Given the description of an element on the screen output the (x, y) to click on. 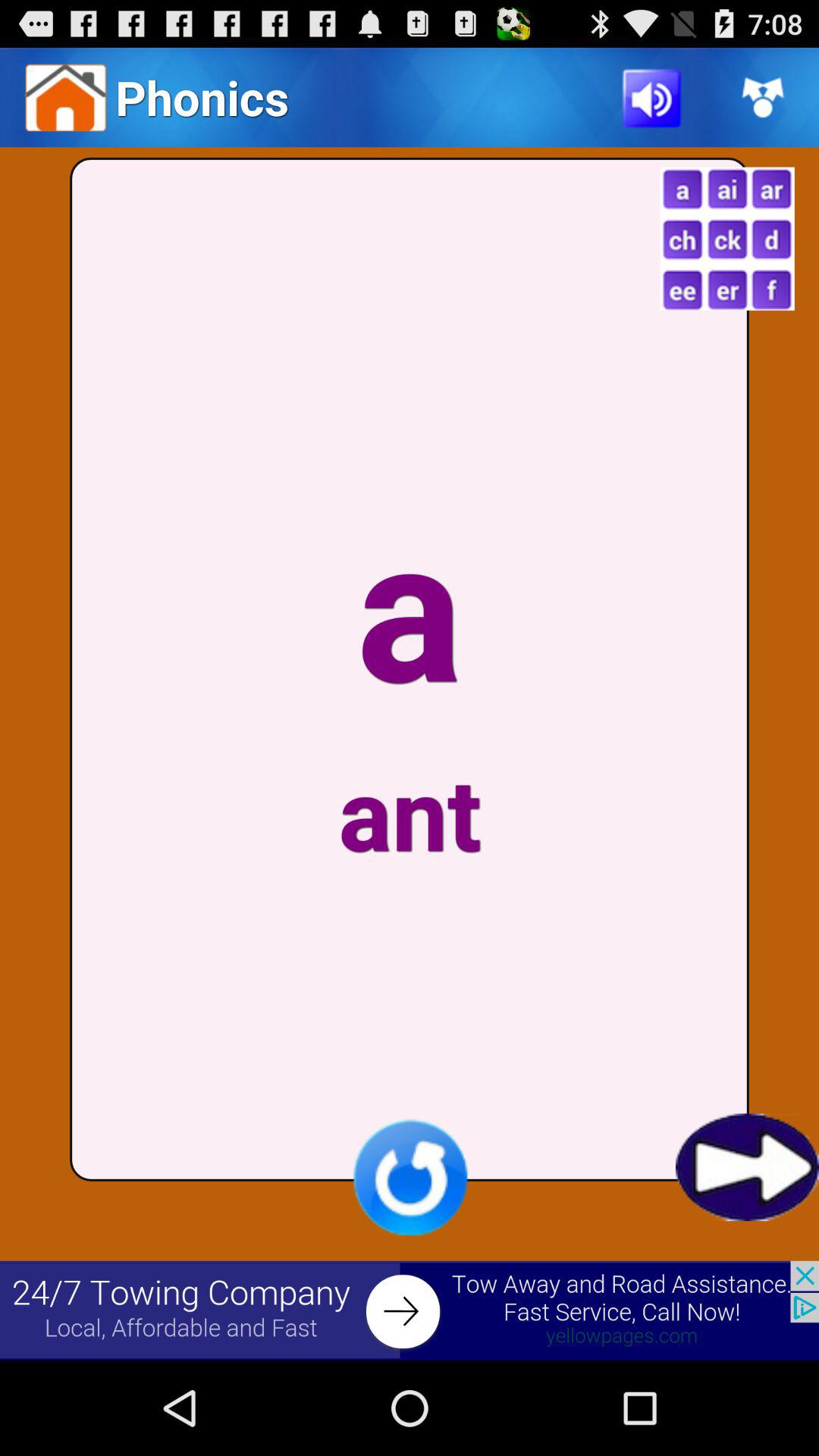
advertisement (409, 1310)
